Given the description of an element on the screen output the (x, y) to click on. 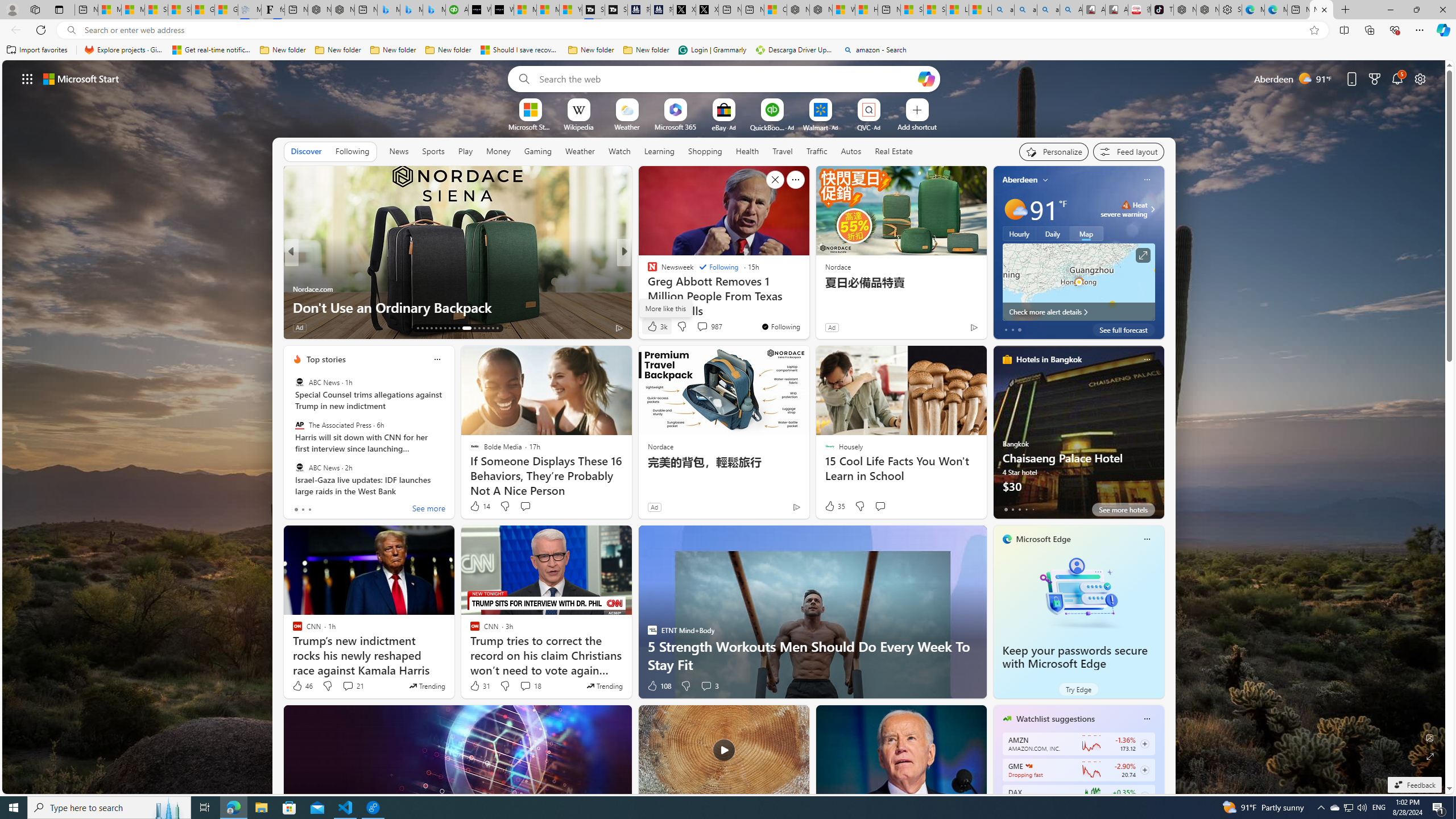
Gilma and Hector both pose tropical trouble for Hawaii (226, 9)
Nordace - Best Sellers (1185, 9)
Keep your passwords secure with Microsoft Edge (1077, 592)
Mostly sunny (1014, 208)
Following (352, 151)
View comments 21 Comment (347, 685)
Personalize your feed" (1054, 151)
3k Like (656, 326)
Nordace Siena Pro 15 Backpack (1207, 9)
Money (497, 151)
Health (746, 151)
Login | Grammarly (712, 49)
